Given the description of an element on the screen output the (x, y) to click on. 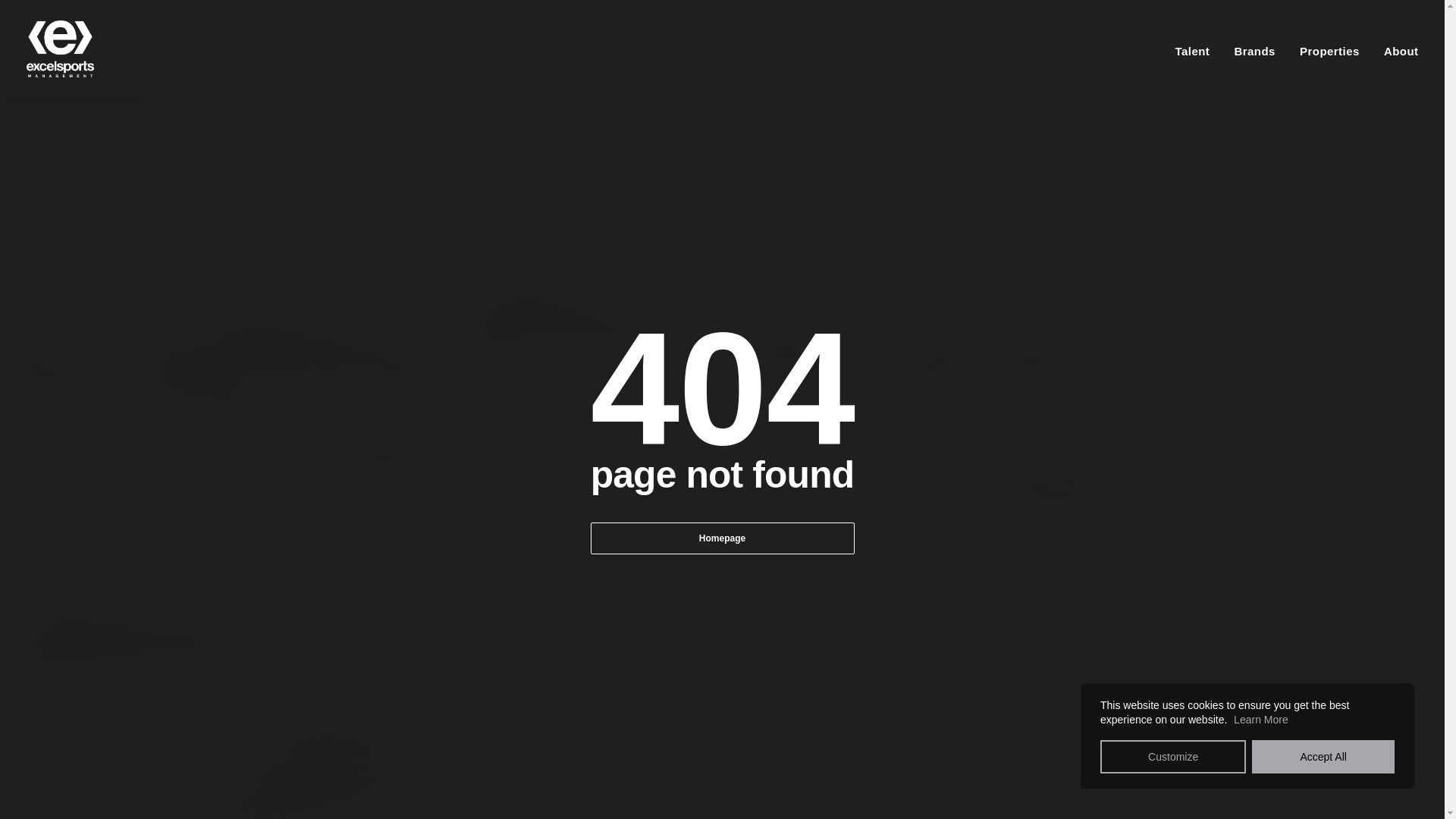
Learn More (1260, 719)
Customize (1173, 756)
Accept All (1323, 756)
